Given the description of an element on the screen output the (x, y) to click on. 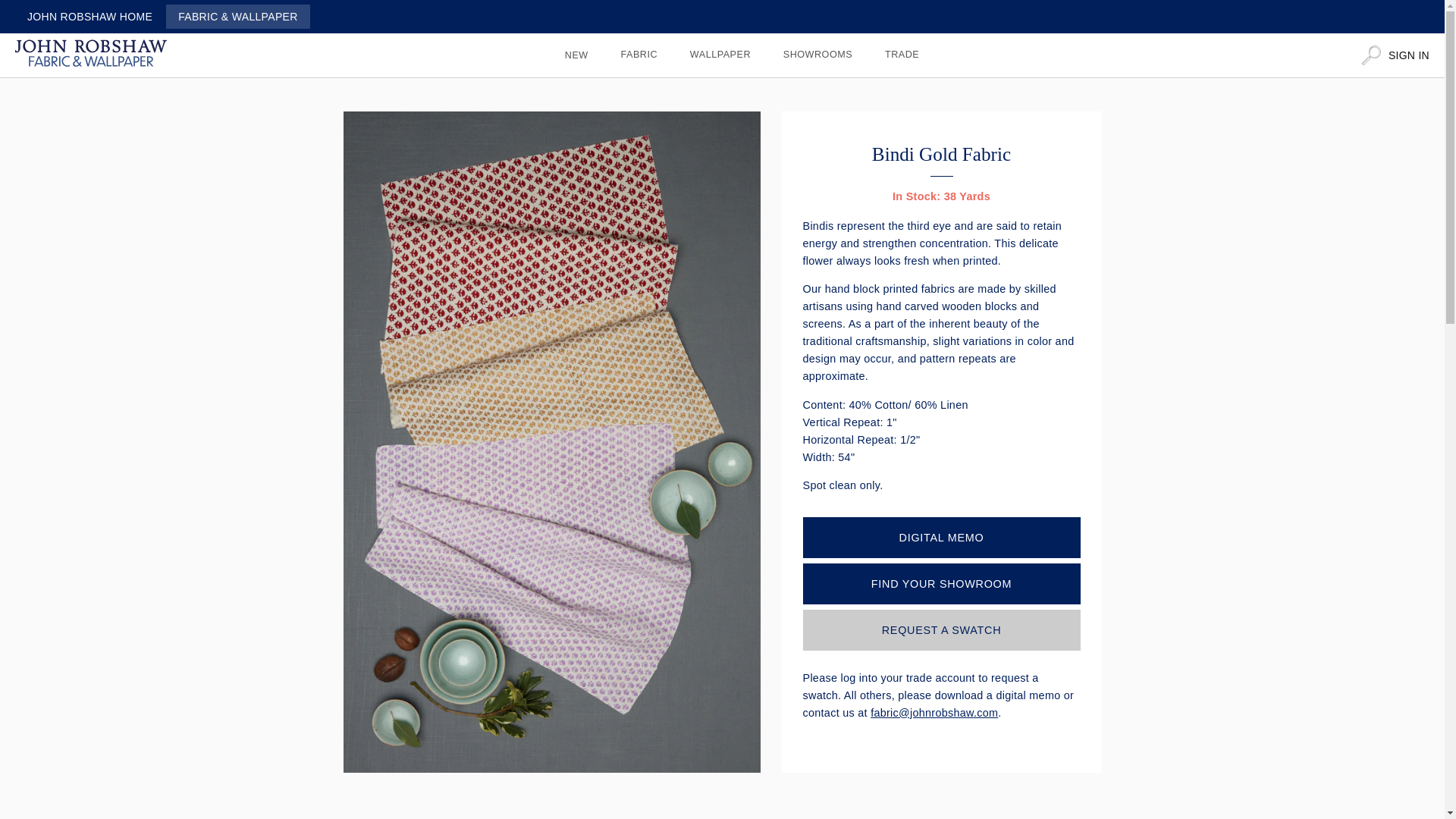
John Robshaw Home Page (90, 56)
FABRIC (639, 54)
NEW (576, 54)
JOHN ROBSHAW HOME (89, 16)
WALLPAPER (720, 54)
